Given the description of an element on the screen output the (x, y) to click on. 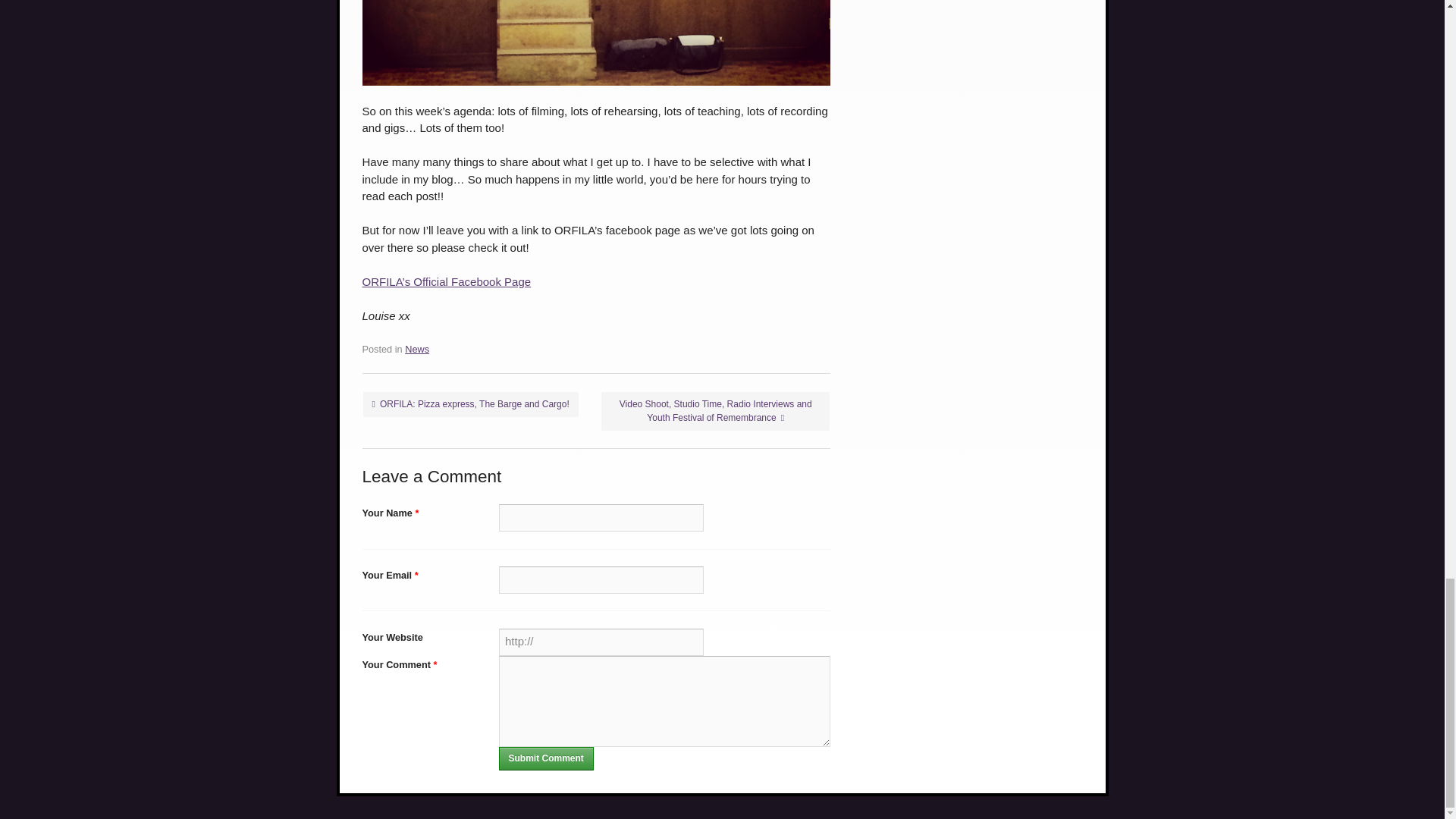
News (416, 348)
Submit Comment (546, 758)
ORFILA: Pizza express, The Barge and Cargo! (470, 404)
